Given the description of an element on the screen output the (x, y) to click on. 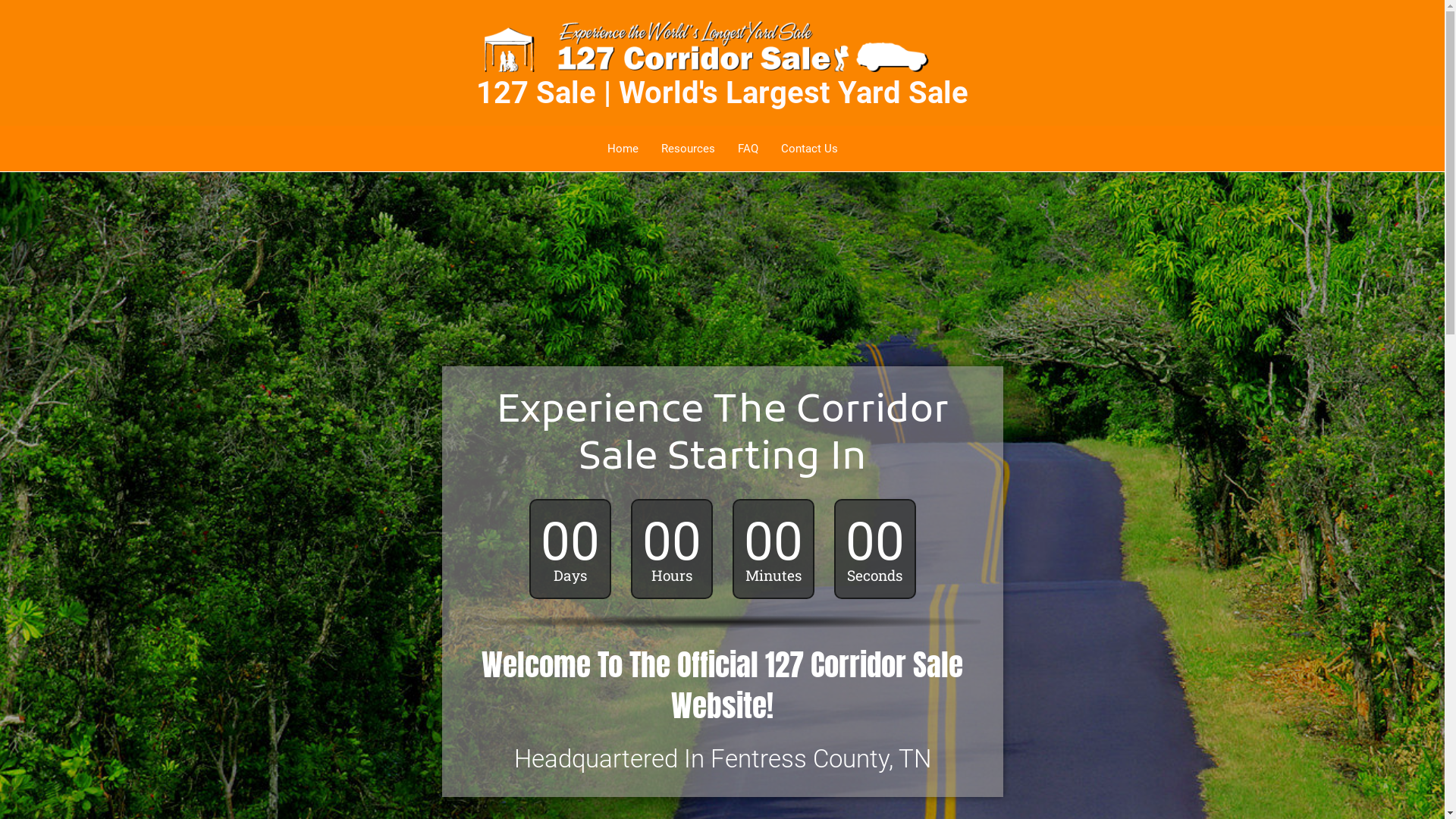
127 Sale | World's Largest Yard Sale Element type: text (722, 92)
Home Element type: text (622, 148)
Contact Us Element type: text (808, 148)
Resources Element type: text (687, 148)
FAQ Element type: text (747, 148)
